Given the description of an element on the screen output the (x, y) to click on. 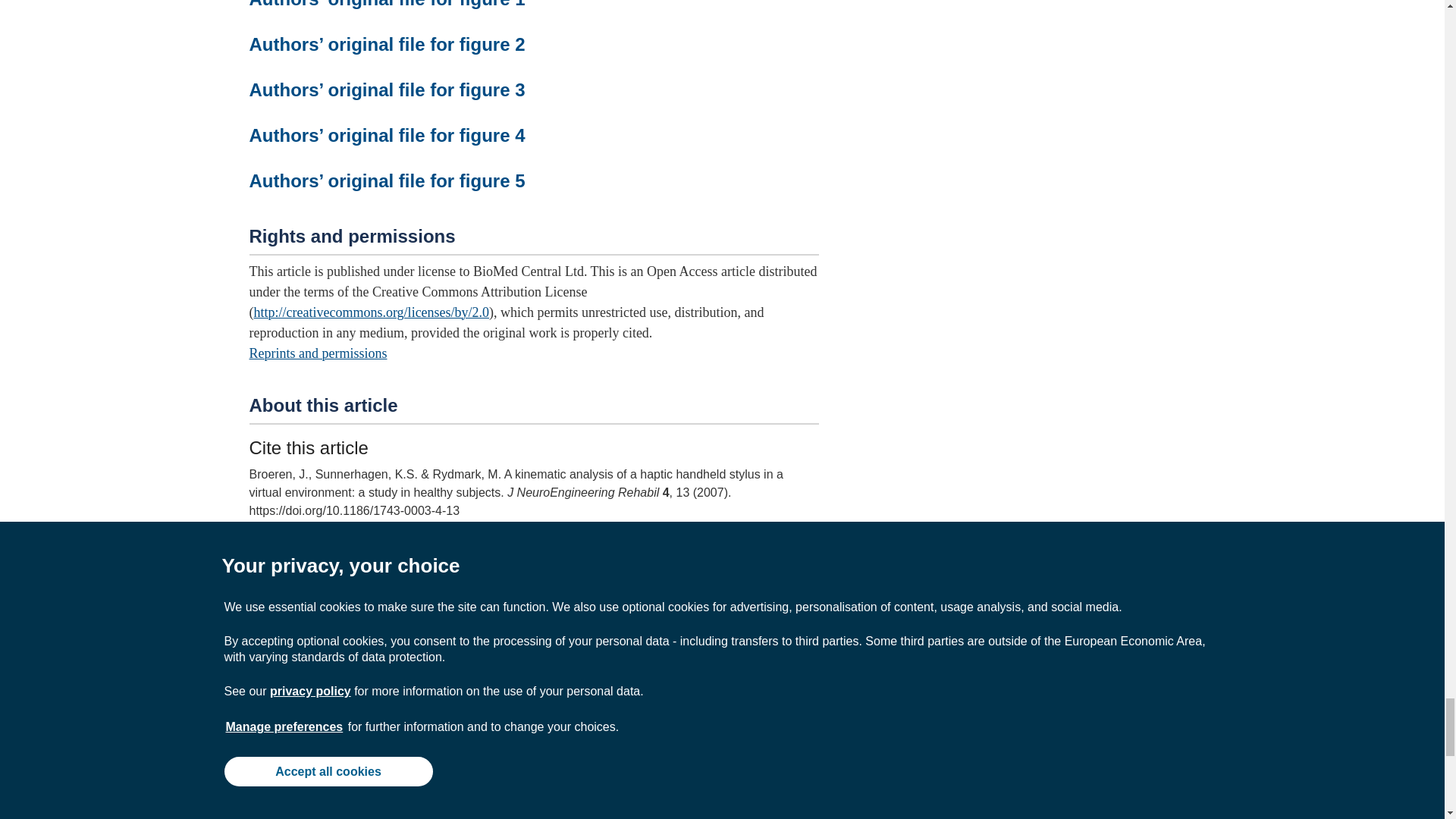
Digital Object Identifier (258, 631)
